Given the description of an element on the screen output the (x, y) to click on. 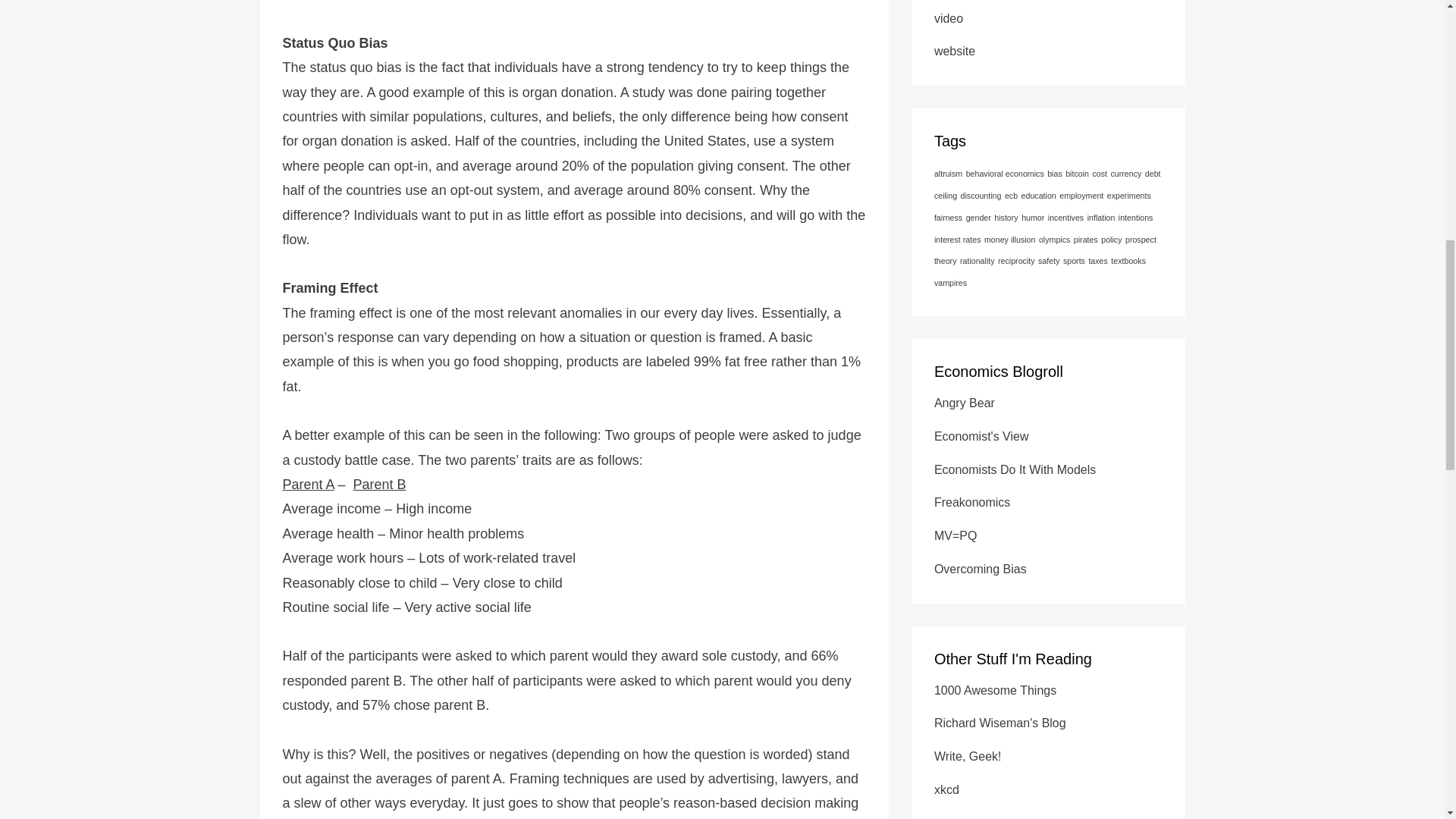
2 topics (1125, 173)
2 topics (1054, 173)
7 topics (1004, 173)
1 topics (948, 173)
2 topics (1047, 183)
1 topics (1081, 194)
5 topics (1099, 173)
3 topics (1039, 194)
1 topics (1128, 194)
1 topics (1077, 173)
